Given the description of an element on the screen output the (x, y) to click on. 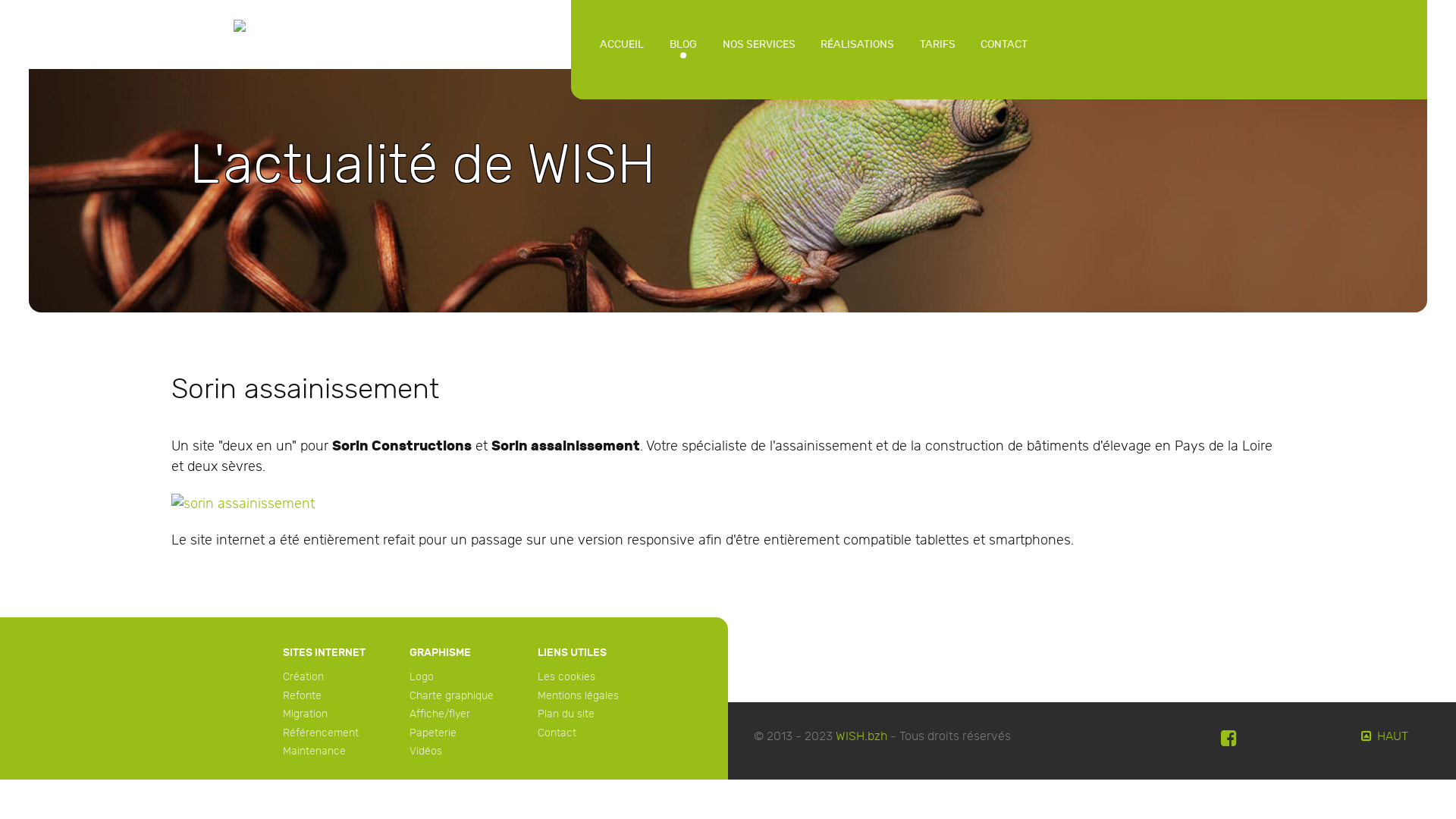
Les cookies Element type: text (566, 676)
NOS SERVICES Element type: text (758, 44)
ACCUEIL Element type: text (622, 44)
Affiche/flyer Element type: text (439, 713)
Charte graphique Element type: text (451, 695)
Contact Element type: text (556, 732)
Plan du site Element type: text (565, 713)
HAUT Element type: text (1383, 736)
BLOG Element type: text (683, 44)
Logo Element type: text (421, 676)
WISH.bzh Element type: text (861, 736)
Papeterie Element type: text (432, 732)
CONTACT Element type: text (1004, 44)
Refonte Element type: text (301, 695)
Maintenance Element type: text (313, 750)
Migration Element type: text (304, 713)
WISH Element type: hover (284, 33)
TARIFS Element type: text (937, 44)
